Given the description of an element on the screen output the (x, y) to click on. 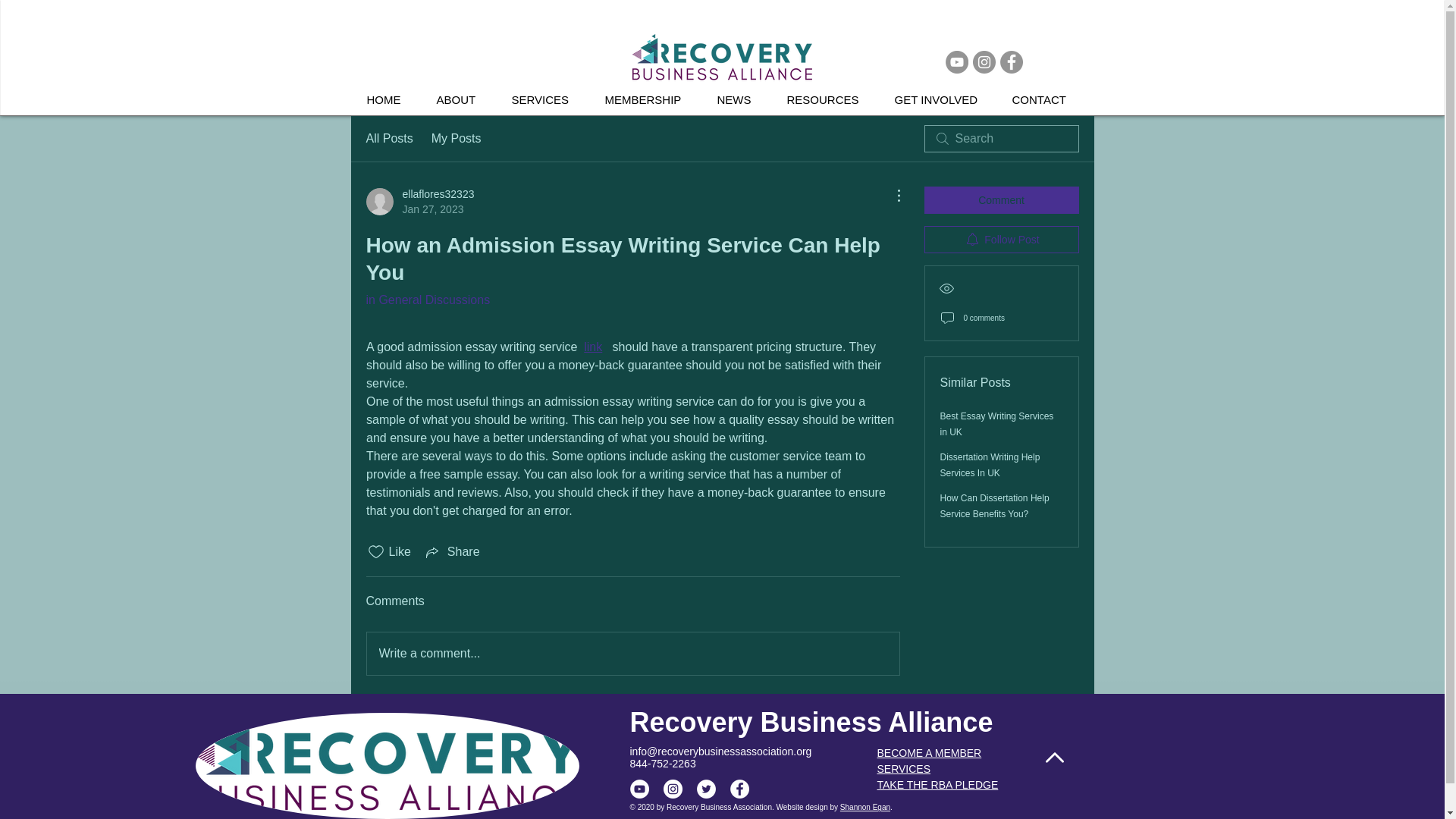
SERVICES (903, 768)
How Can Dissertation Help Service Benefits You? (994, 506)
Write a comment... (632, 653)
BECOME A MEMBER (928, 752)
All Posts (388, 138)
Dissertation Writing Help Services In UK (990, 465)
ABOUT (419, 201)
link (462, 99)
NEWS (592, 346)
